Given the description of an element on the screen output the (x, y) to click on. 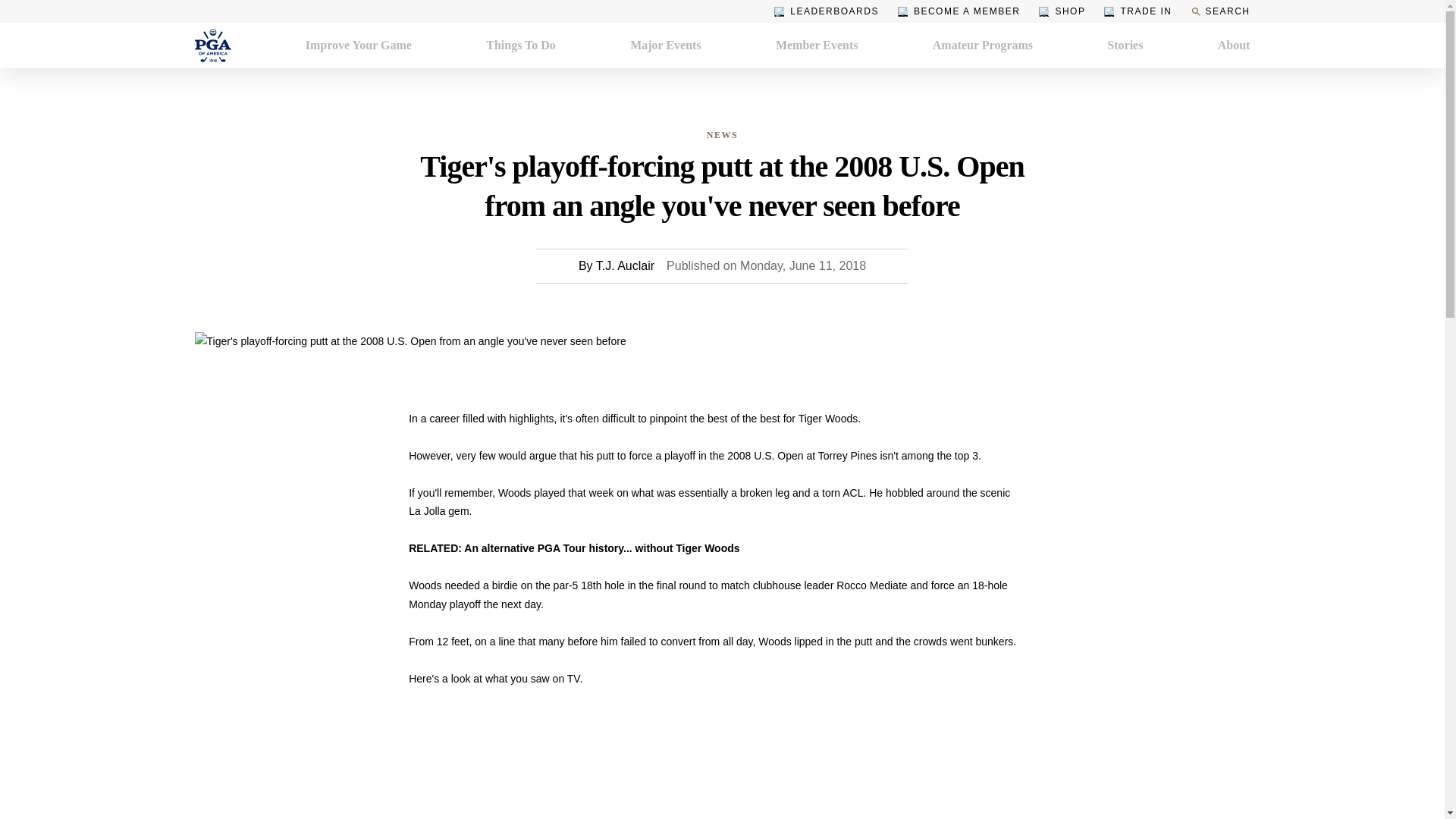
Stories (1124, 44)
Amateur Programs (982, 44)
Member Events (817, 44)
PGA Home Page (211, 44)
SEARCH (1220, 11)
Things To Do (521, 44)
TRADE IN (1137, 10)
About (1233, 44)
SHOP (1061, 10)
Major Events (665, 44)
LEADERBOARDS (826, 10)
Improve Your Game (358, 44)
BECOME A MEMBER (959, 10)
